Given the description of an element on the screen output the (x, y) to click on. 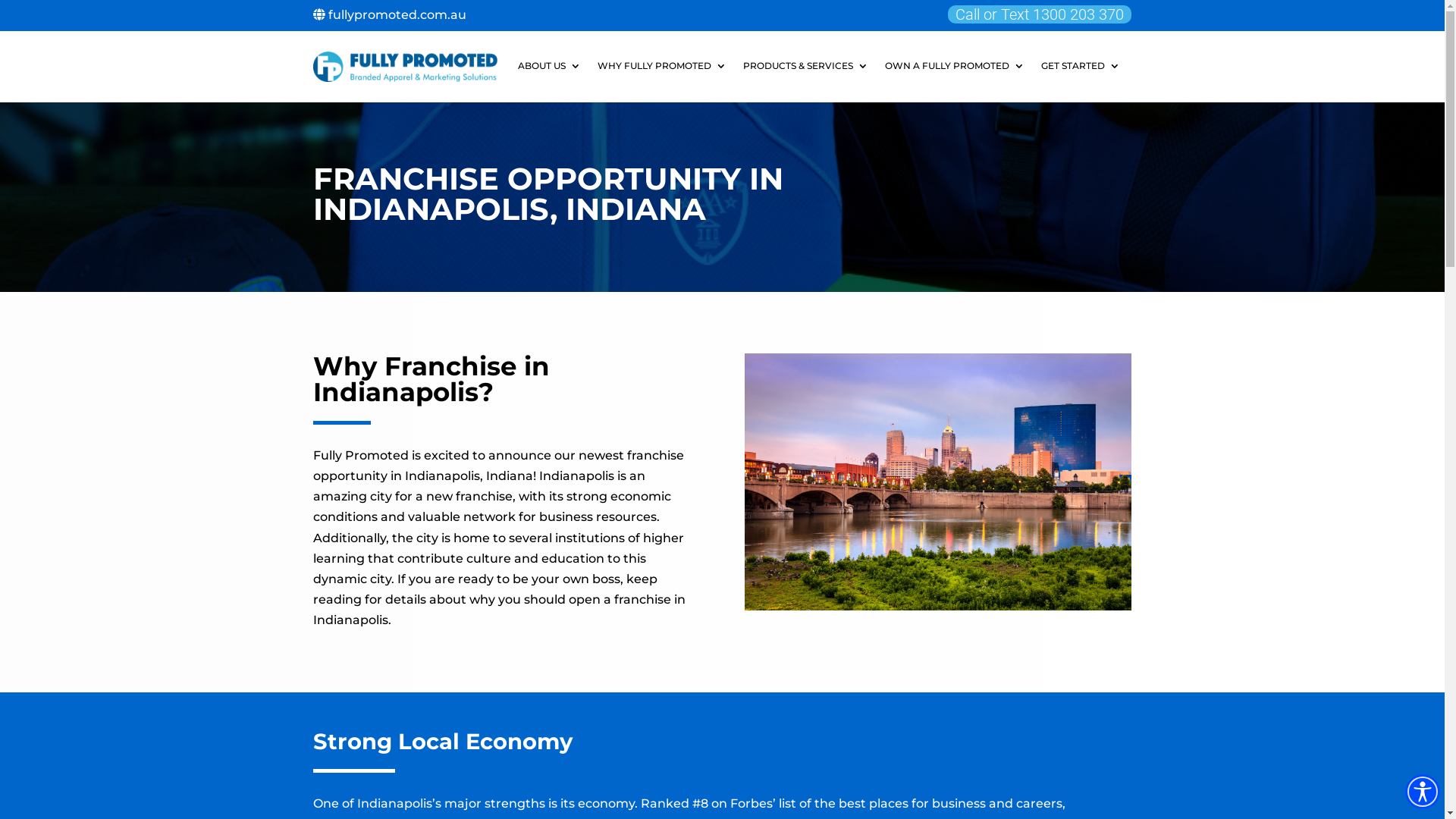
GET STARTED Element type: text (1079, 68)
OWN A FULLY PROMOTED Element type: text (953, 68)
ABOUT US Element type: text (548, 68)
Call or Text 1300 203 370 Element type: text (1039, 14)
PRODUCTS & SERVICES Element type: text (805, 68)
WHY FULLY PROMOTED Element type: text (661, 68)
FullyPromotedLogo Element type: hover (404, 66)
fullypromoted.com.au Element type: text (388, 14)
